Given the description of an element on the screen output the (x, y) to click on. 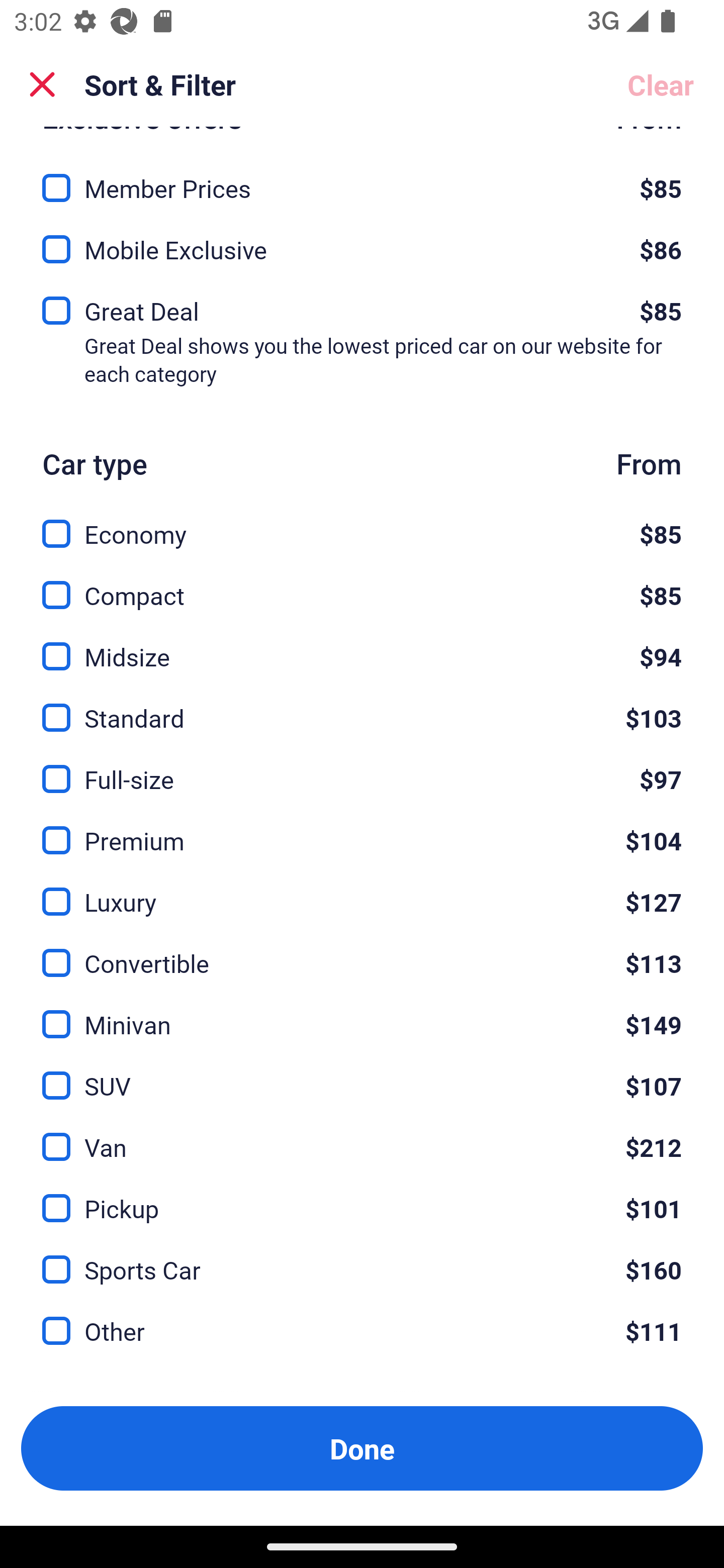
Close Sort and Filter (42, 84)
Clear (660, 84)
Member Prices, $85 Member Prices $85 (361, 175)
Mobile Exclusive, $86 Mobile Exclusive $86 (361, 243)
Economy, $85 Economy $85 (361, 522)
Compact, $85 Compact $85 (361, 583)
Midsize, $94 Midsize $94 (361, 644)
Standard, $103 Standard $103 (361, 705)
Full-size, $97 Full-size $97 (361, 767)
Premium, $104 Premium $104 (361, 828)
Luxury, $127 Luxury $127 (361, 890)
Convertible, $113 Convertible $113 (361, 952)
Minivan, $149 Minivan $149 (361, 1013)
SUV, $107 SUV $107 (361, 1074)
Van, $212 Van $212 (361, 1135)
Pickup, $101 Pickup $101 (361, 1196)
Sports Car, $160 Sports Car $160 (361, 1257)
Other, $111 Other $111 (361, 1330)
Apply and close Sort and Filter Done (361, 1448)
